Given the description of an element on the screen output the (x, y) to click on. 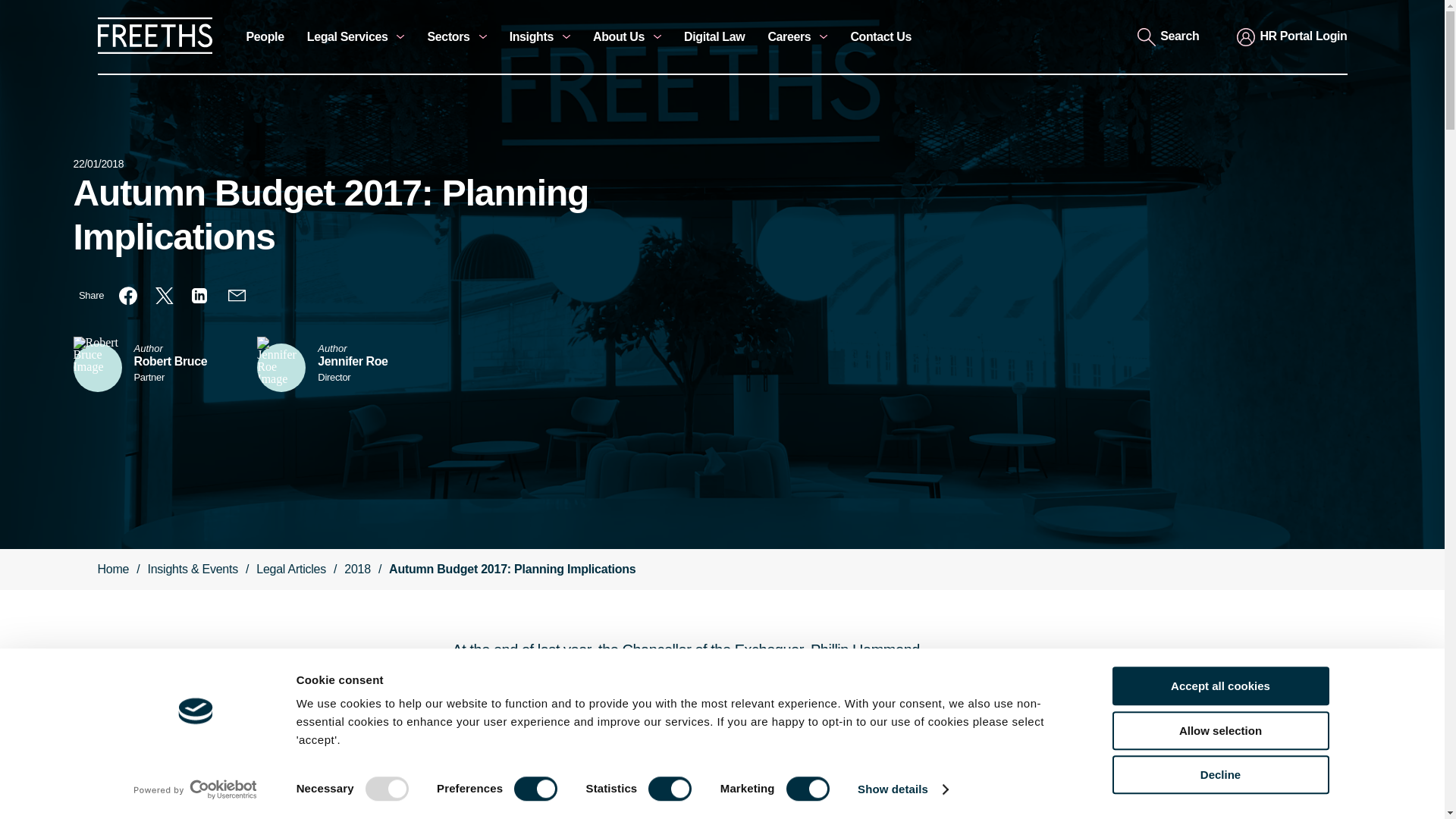
Share via email (236, 295)
Show details (902, 789)
Go to homepage (154, 49)
Share via LinkedIn (200, 295)
Accept all cookies (1219, 685)
Allow selection (1219, 730)
Share via X (163, 295)
Share (90, 295)
Share via Facebook (127, 295)
Decline (1219, 774)
